Given the description of an element on the screen output the (x, y) to click on. 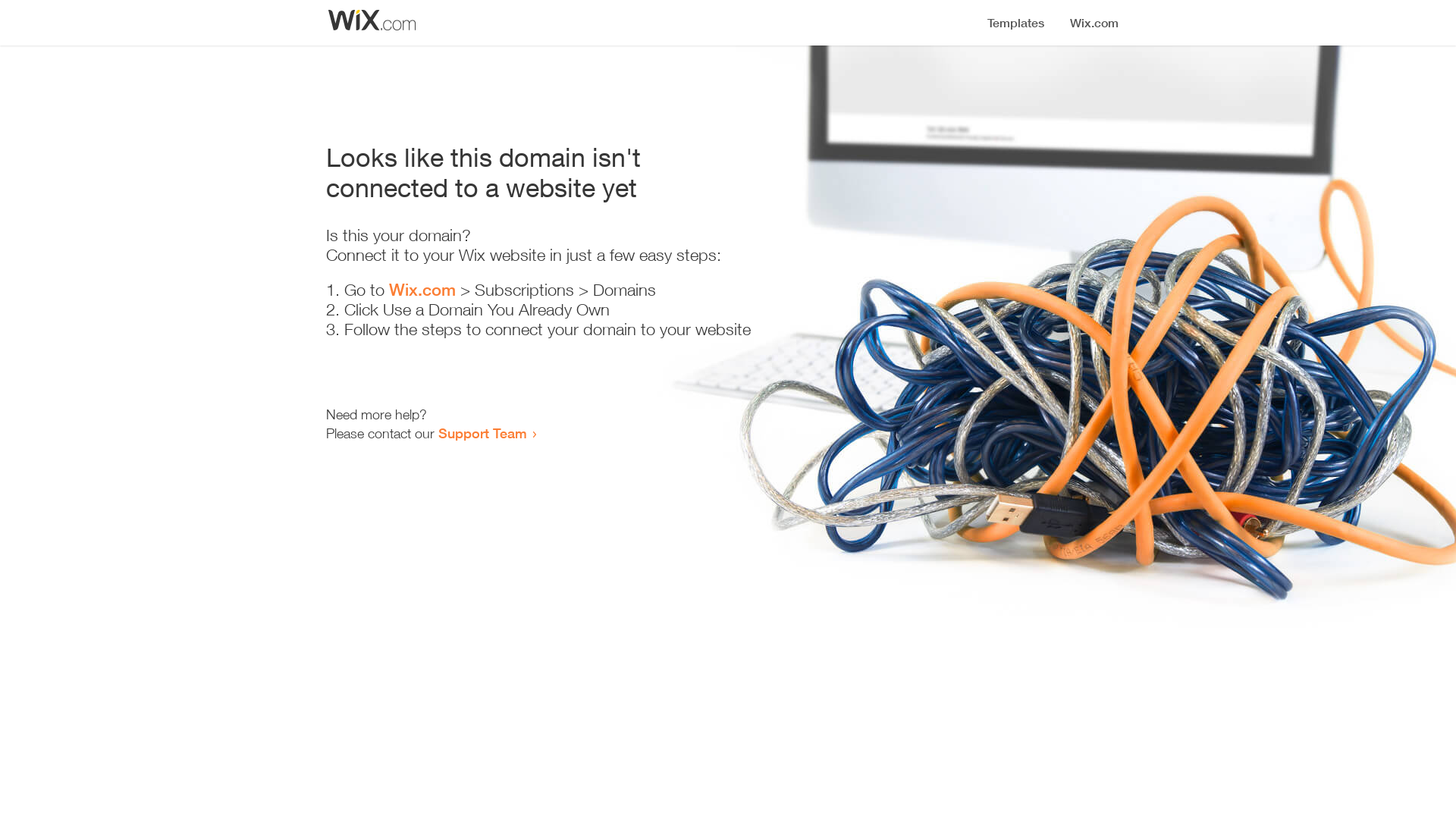
Support Team Element type: text (482, 432)
Wix.com Element type: text (422, 289)
